Given the description of an element on the screen output the (x, y) to click on. 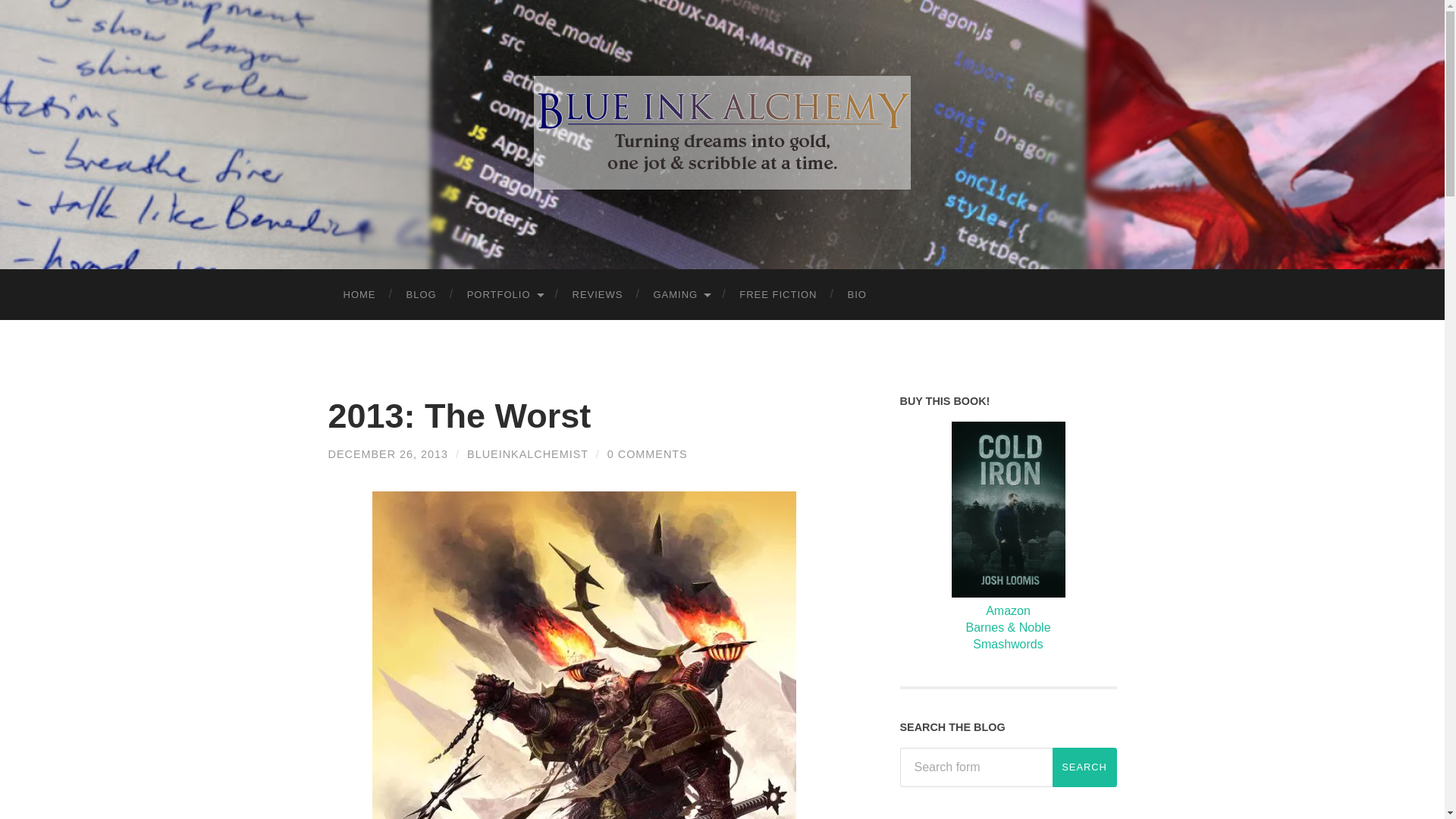
2013: The Worst (459, 415)
BLOG (421, 294)
FREE FICTION (777, 294)
PORTFOLIO (504, 294)
2013: The Worst (459, 415)
REVIEWS (598, 294)
0 COMMENTS (647, 453)
GAMING (680, 294)
BIO (857, 294)
BLUEINKALCHEMIST (527, 453)
Posts by BlueInkAlchemist (527, 453)
2013: The Worst (387, 453)
Search (1084, 767)
DECEMBER 26, 2013 (387, 453)
HOME (358, 294)
